Given the description of an element on the screen output the (x, y) to click on. 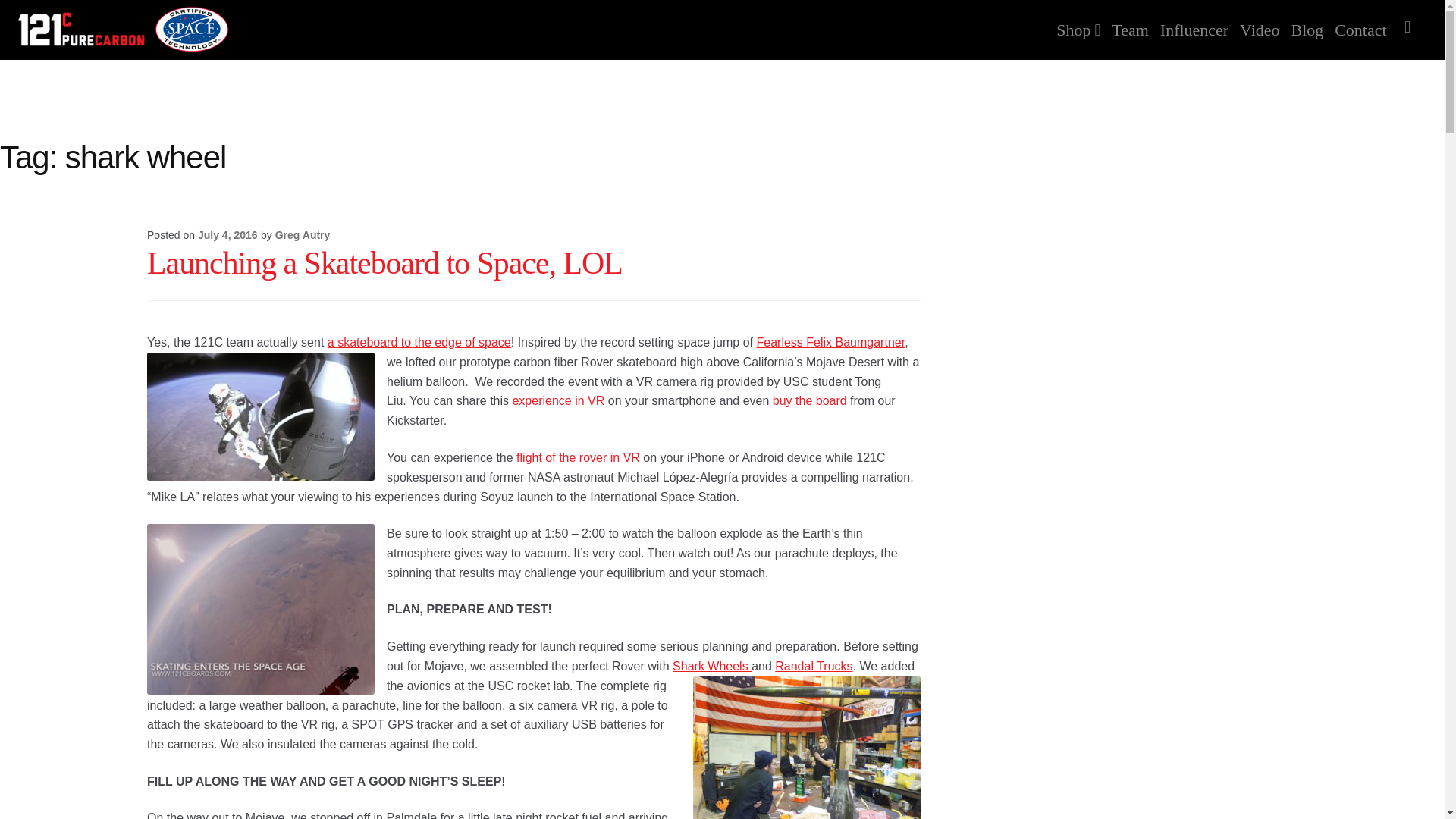
Launching a Skateboard to Space, LOL (385, 262)
Greg Autry (302, 234)
buy the board (810, 400)
Fearless Felix Baumgartner (829, 341)
Blog (1306, 22)
flight of the rover in VR (578, 457)
Video (1259, 22)
Team (1129, 22)
Shop (1077, 22)
July 4, 2016 (227, 234)
